Given the description of an element on the screen output the (x, y) to click on. 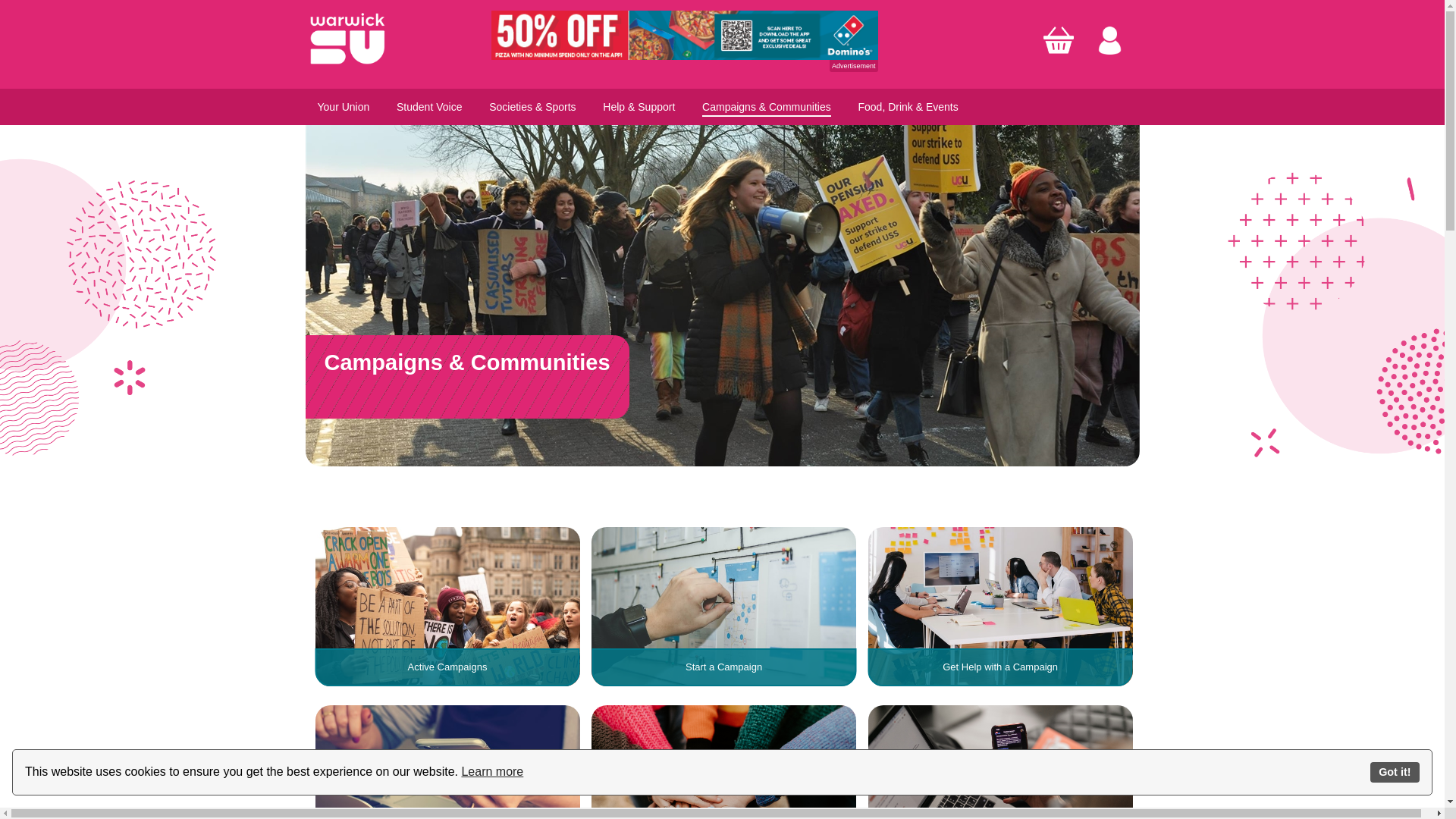
Got it! (1394, 771)
Student Voice (428, 106)
Your Union (343, 106)
Learn more (491, 771)
